Given the description of an element on the screen output the (x, y) to click on. 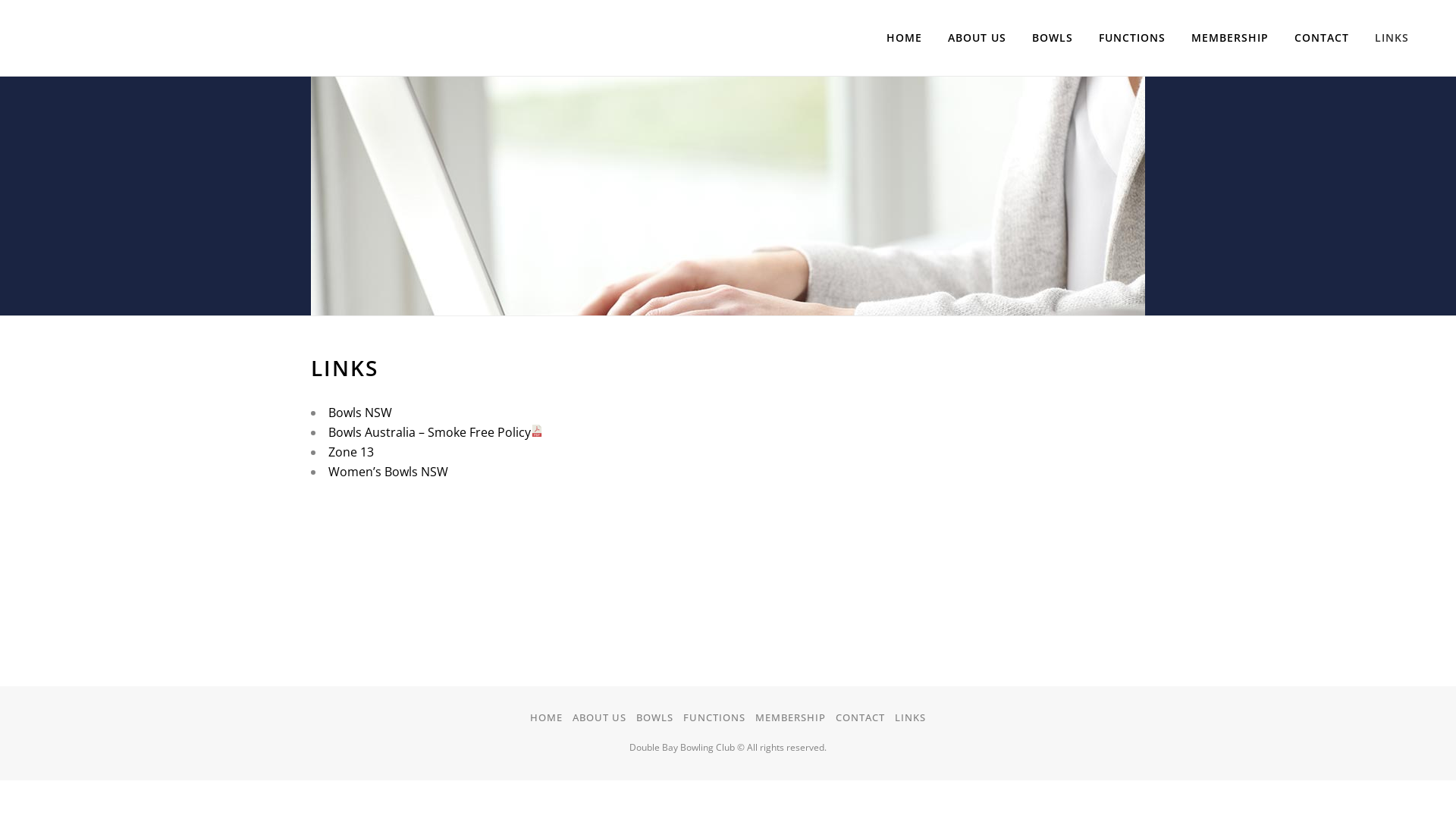
CONTACT Element type: text (859, 717)
BOWLS Element type: text (654, 717)
ABOUT US Element type: text (599, 717)
FUNCTIONS Element type: text (714, 717)
HOME Element type: text (546, 717)
MEMBERSHIP Element type: text (1229, 37)
Bowls NSW Element type: text (360, 412)
ABOUT US Element type: text (977, 37)
CONTACT Element type: text (1321, 37)
FUNCTIONS Element type: text (1131, 37)
LINKS Element type: text (909, 717)
HOME Element type: text (904, 37)
Zone 13 Element type: text (350, 451)
MEMBERSHIP Element type: text (790, 717)
BOWLS Element type: text (1052, 37)
LINKS Element type: text (1391, 37)
